Given the description of an element on the screen output the (x, y) to click on. 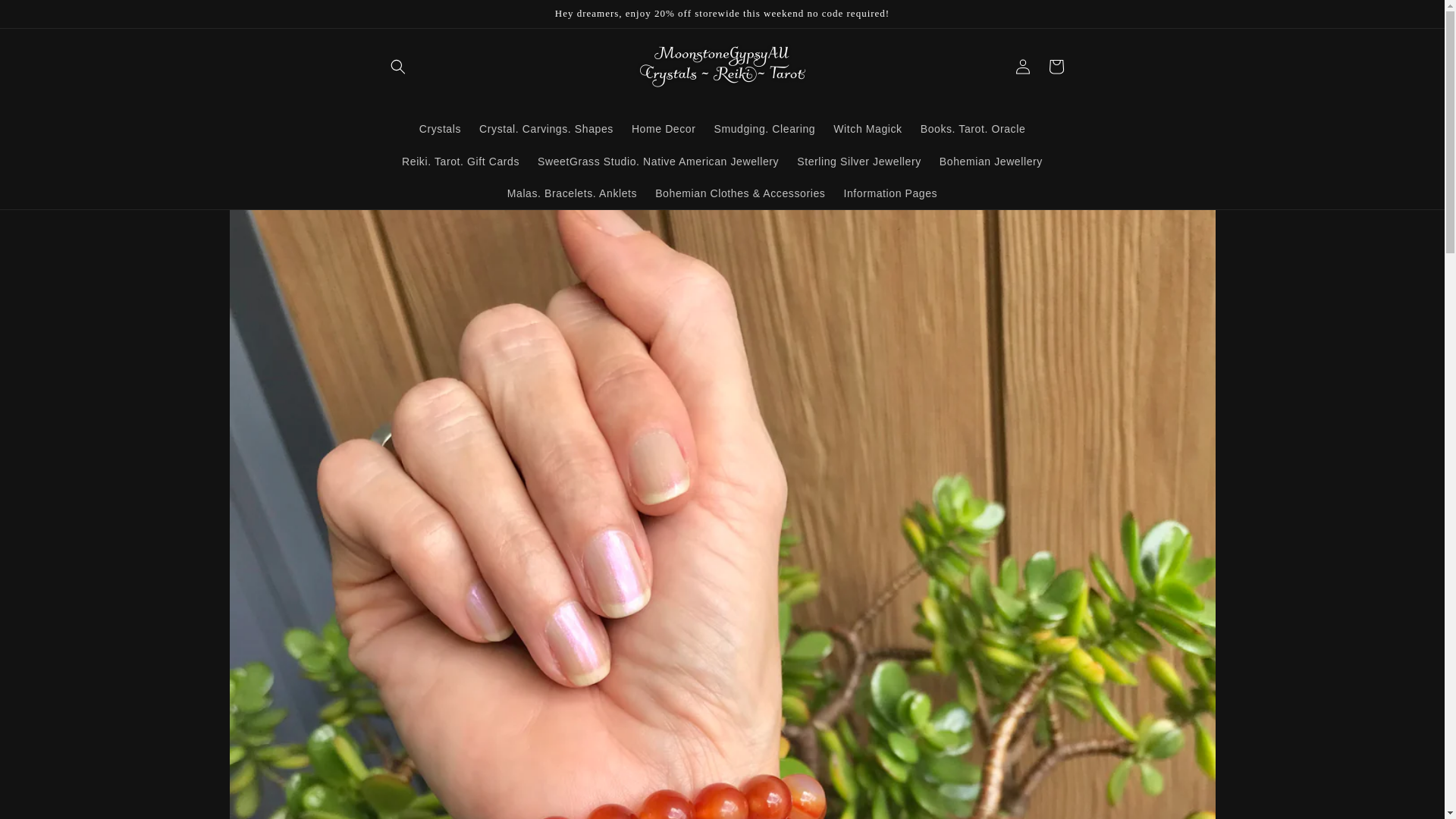
Bohemian Jewellery (990, 161)
Cart (1055, 66)
Log in (1022, 66)
Home Decor (663, 128)
Crystal. Carvings. Shapes (546, 128)
Reiki. Tarot. Gift Cards (460, 161)
Skip to content (45, 17)
Malas. Bracelets. Anklets (571, 193)
Smudging. Clearing (764, 128)
Books. Tarot. Oracle (973, 128)
